Given the description of an element on the screen output the (x, y) to click on. 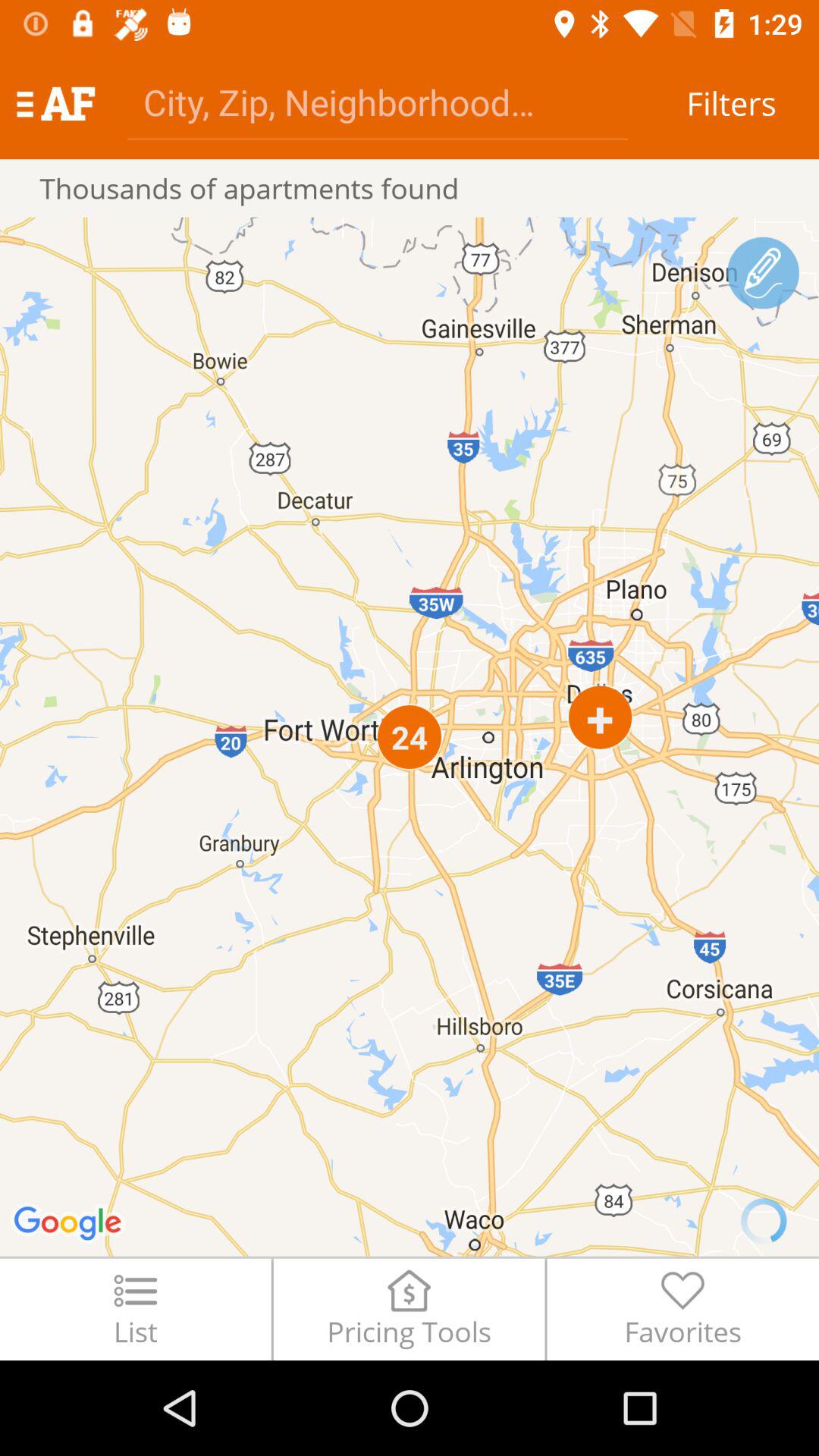
click icon above the list (409, 736)
